Given the description of an element on the screen output the (x, y) to click on. 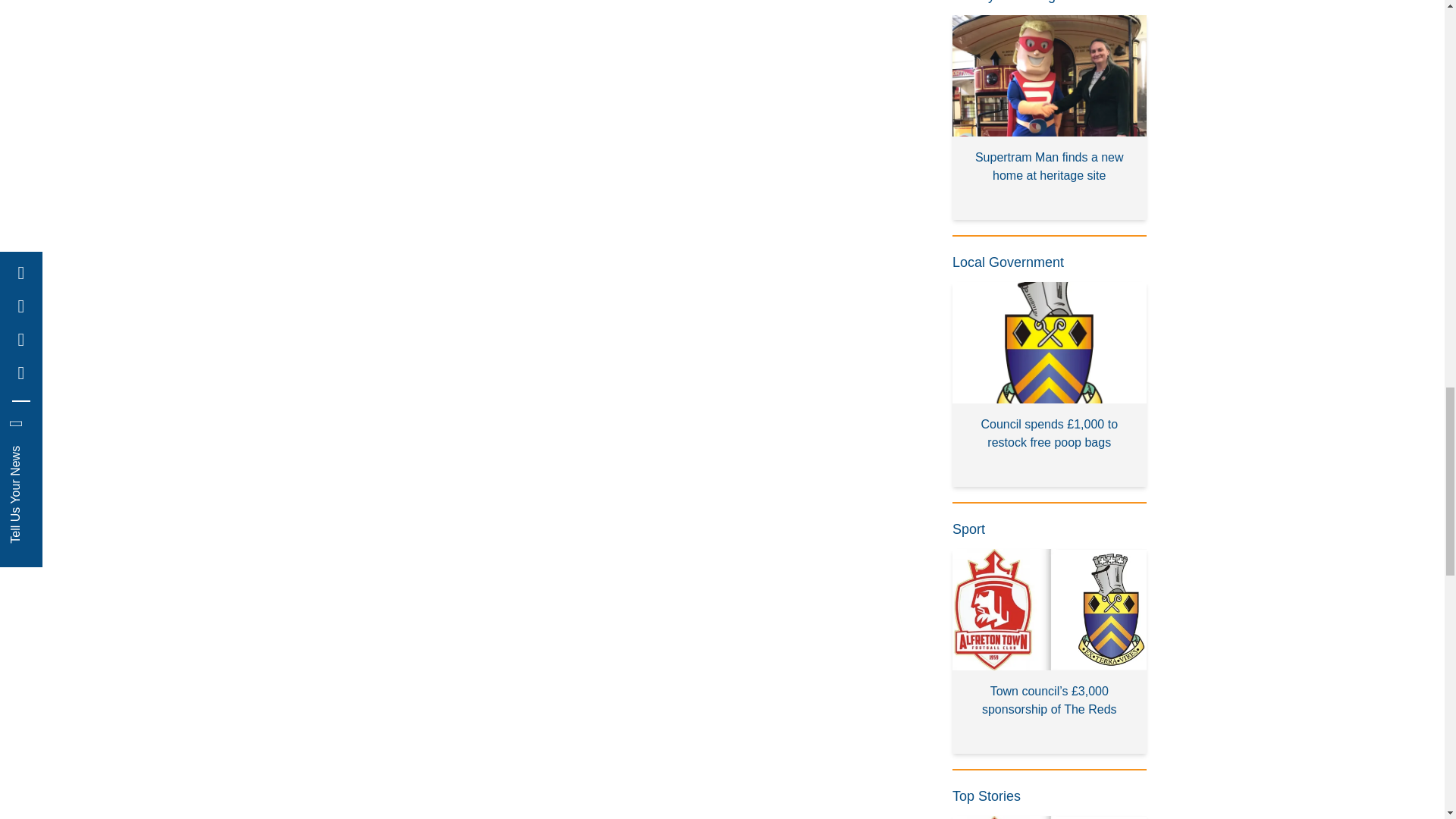
Supertram Man finds a new home at heritage site (1049, 117)
